Given the description of an element on the screen output the (x, y) to click on. 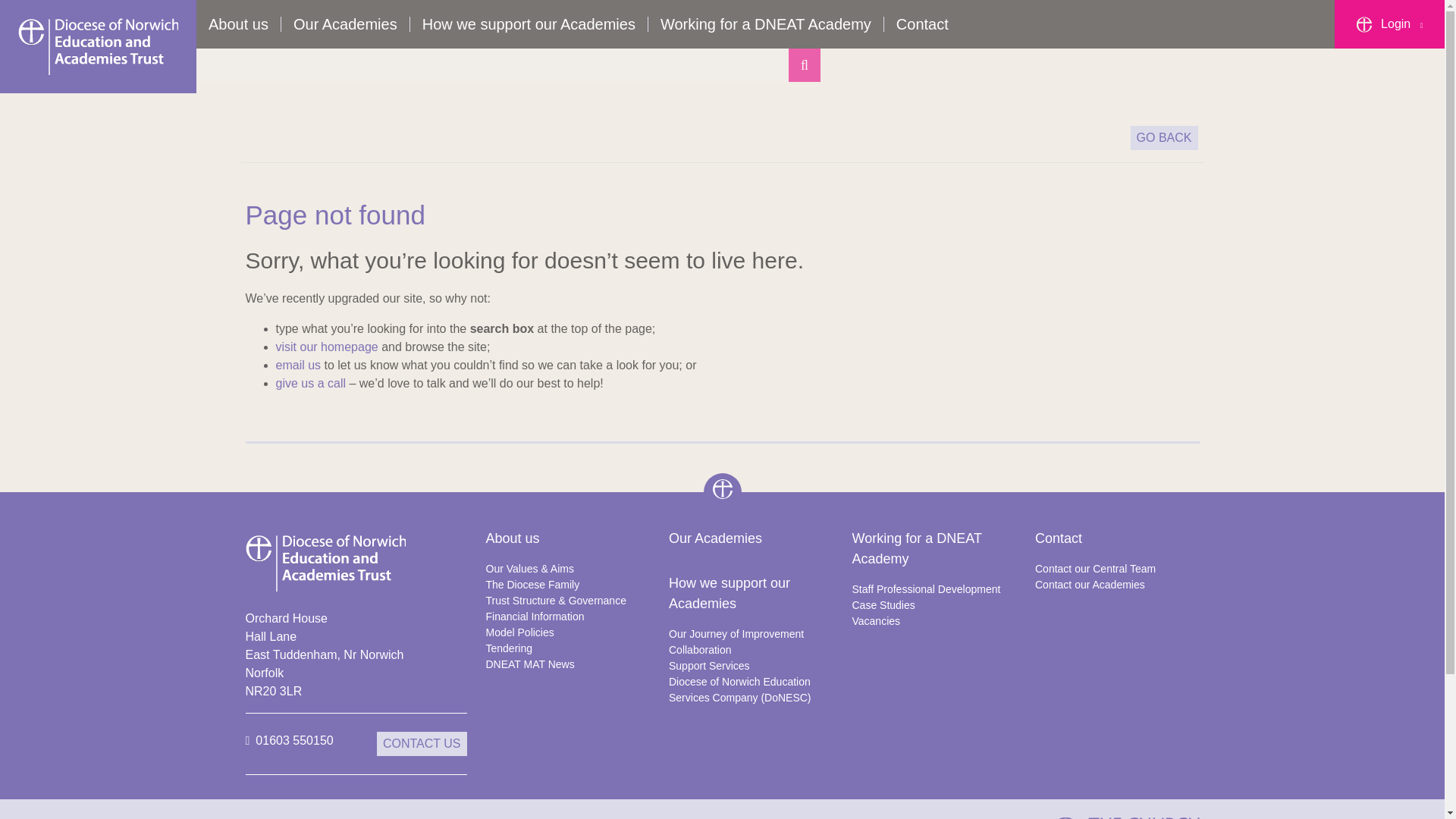
DNEAT (97, 46)
Financial Information (568, 616)
DNEAT (722, 488)
Contact Us (422, 743)
Call Us (289, 743)
Tendering (568, 648)
About us (568, 538)
How we support our Academies (528, 23)
email us (298, 364)
GO BACK (1164, 137)
Search (805, 64)
CONTACT US (422, 743)
The Diocese Family (568, 584)
About us (238, 23)
Our Academies (345, 23)
